Given the description of an element on the screen output the (x, y) to click on. 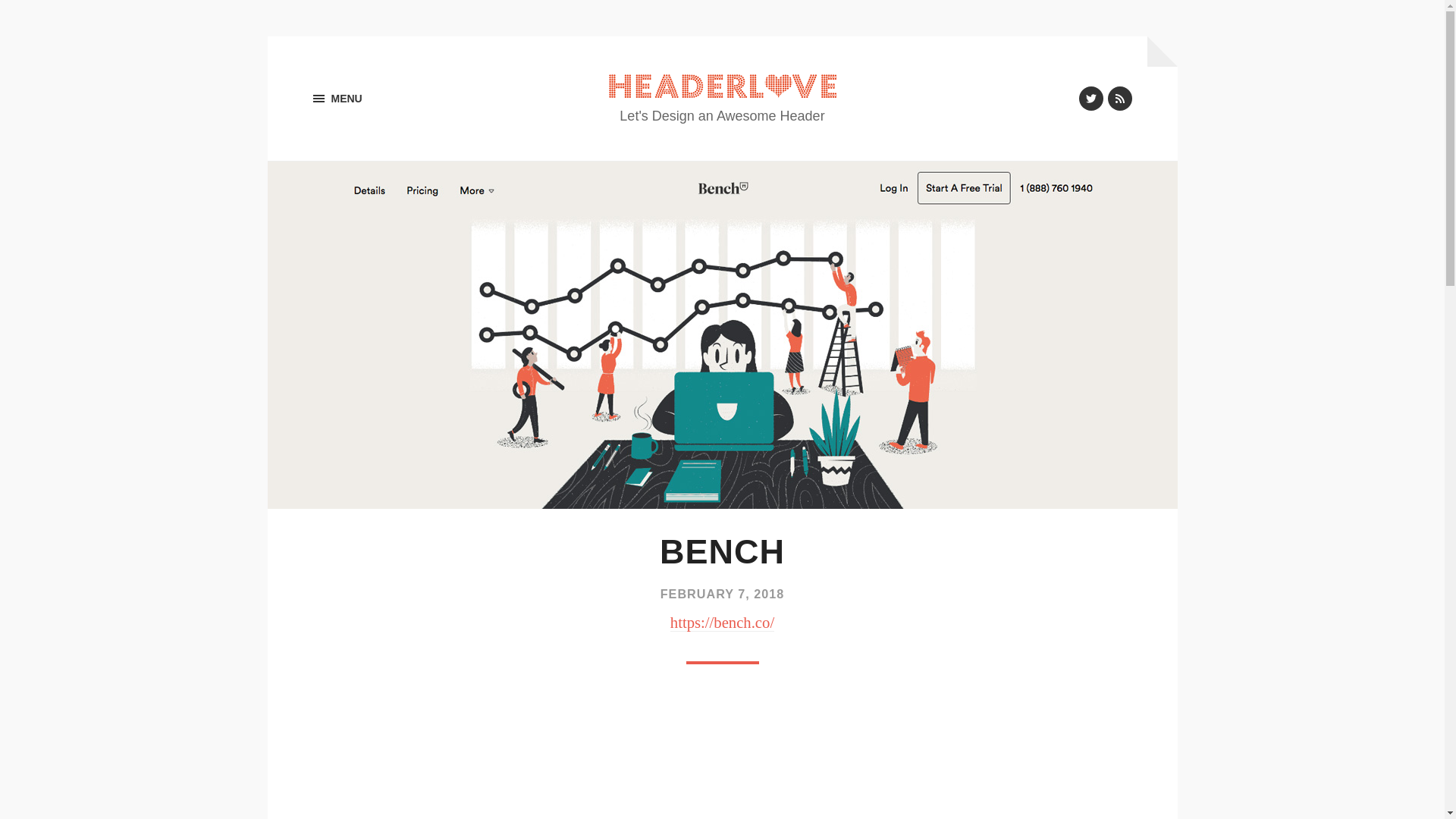
Click to view the navigation (337, 98)
Advertisement (722, 756)
MENU (337, 98)
